Given the description of an element on the screen output the (x, y) to click on. 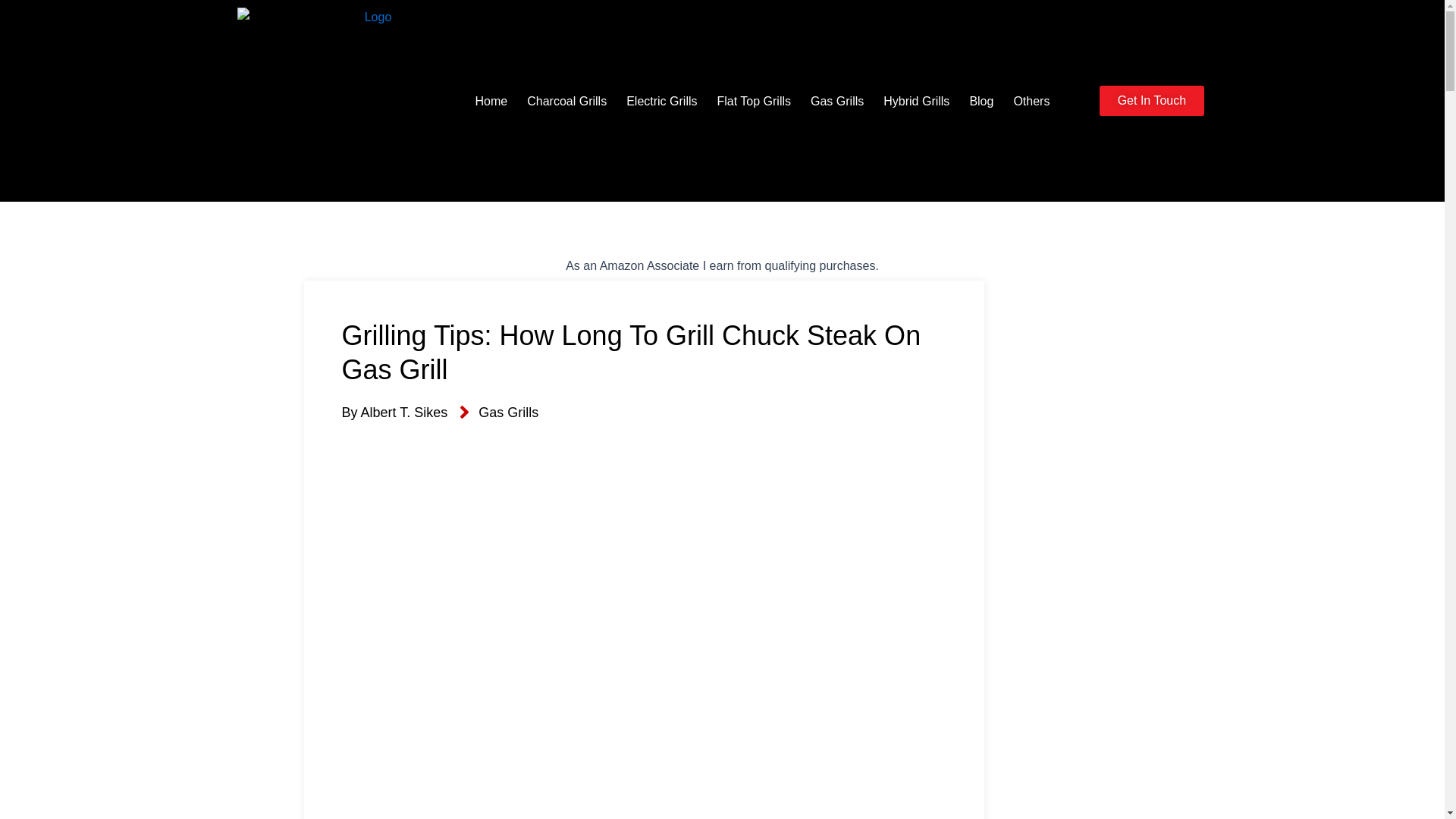
Blog (981, 100)
Electric Grills (660, 100)
Flat Top Grills (753, 100)
Hybrid Grills (916, 100)
Home (491, 100)
By Albert T. Sikes (393, 412)
Get In Touch (1151, 100)
Gas Grills (508, 412)
Others (1031, 100)
Charcoal Grills (565, 100)
